Given the description of an element on the screen output the (x, y) to click on. 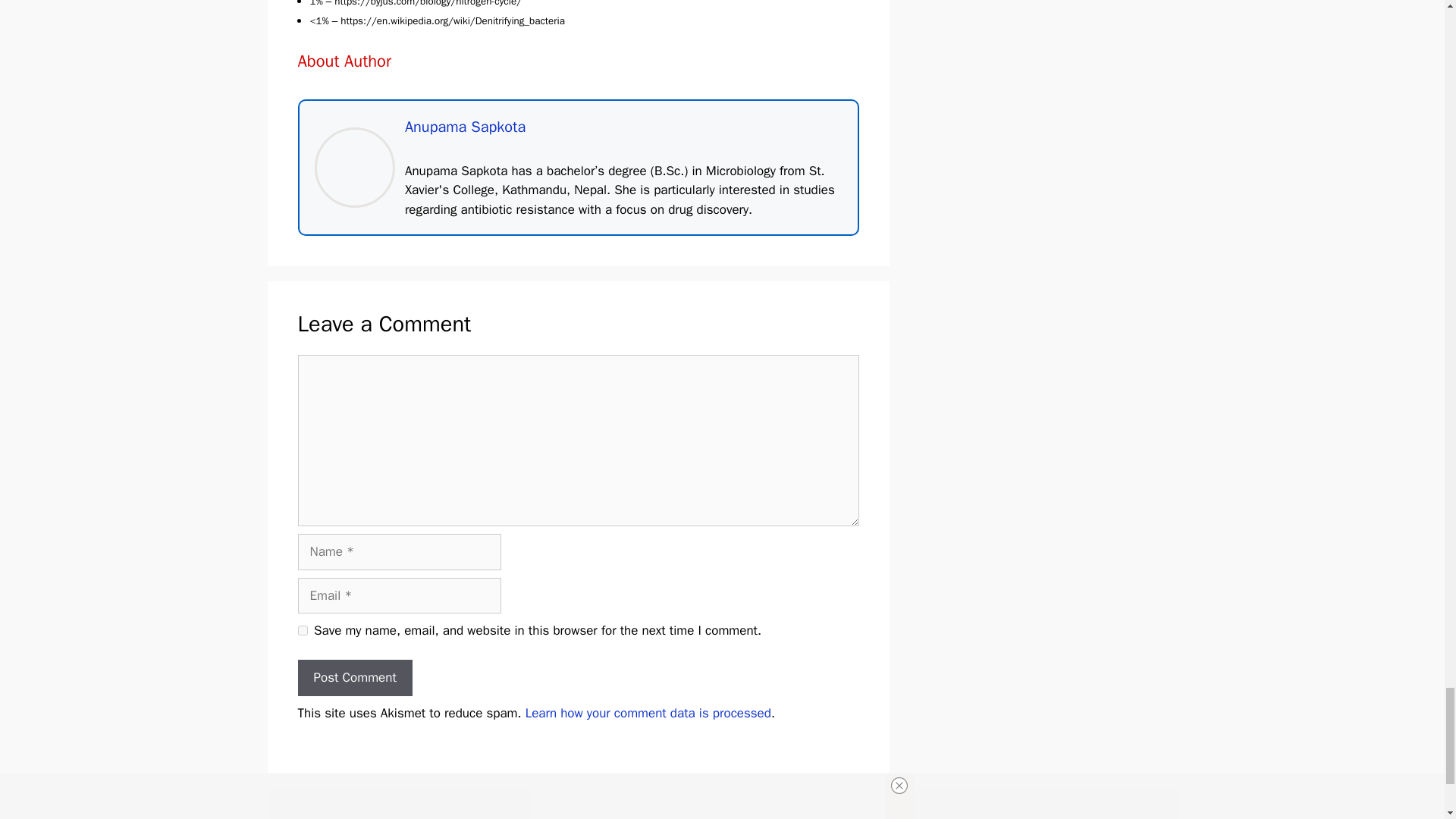
Post Comment (354, 678)
Post Comment (354, 678)
Learn how your comment data is processed (648, 713)
yes (302, 630)
Anupama Sapkota (464, 126)
